Given the description of an element on the screen output the (x, y) to click on. 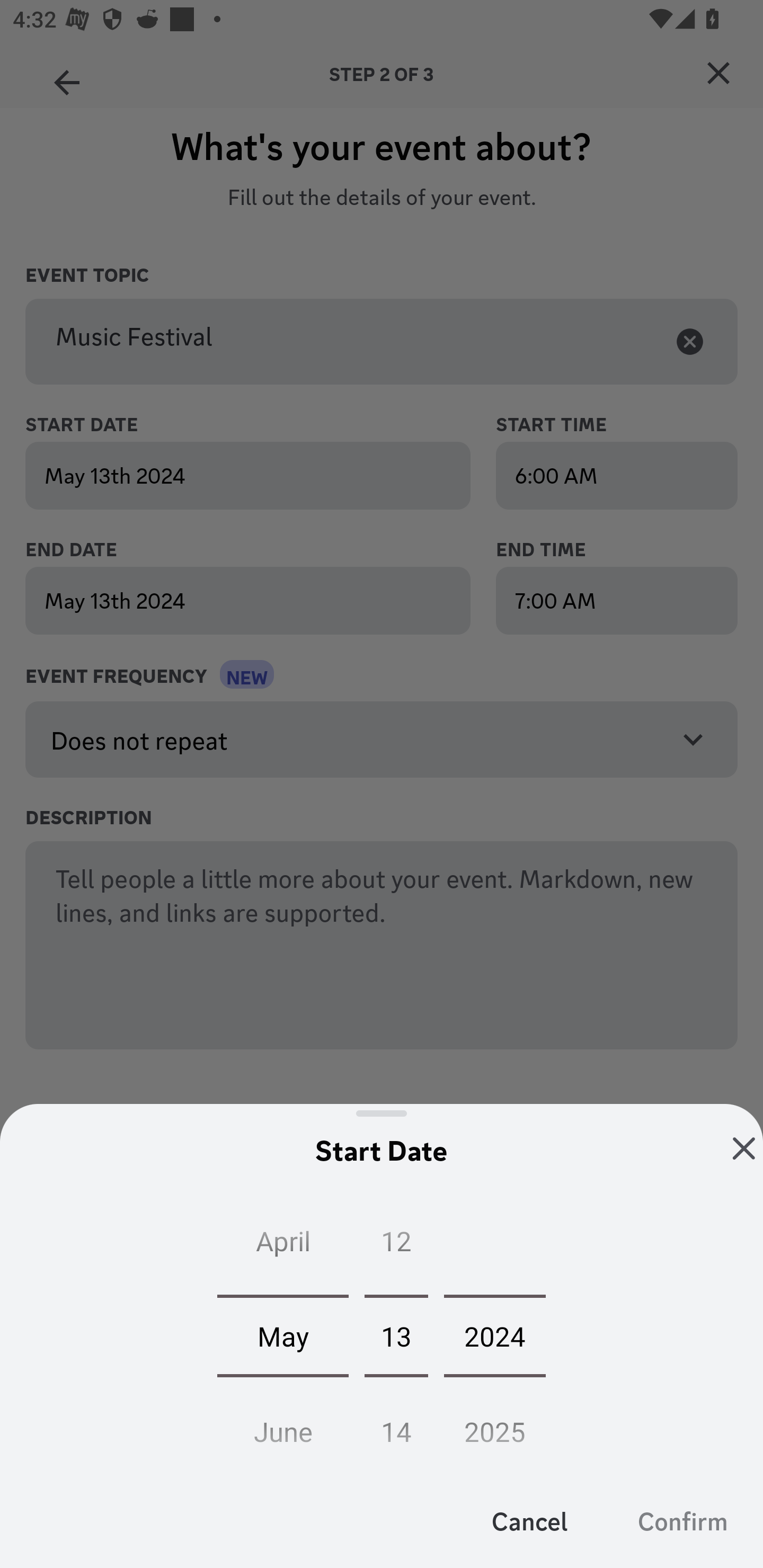
Close (743, 1148)
April (282, 1245)
12 (396, 1245)
May (282, 1335)
13 (396, 1335)
2024 (494, 1335)
June (282, 1425)
14 (396, 1425)
2025 (494, 1425)
Cancel (529, 1520)
Confirm (682, 1520)
